Given the description of an element on the screen output the (x, y) to click on. 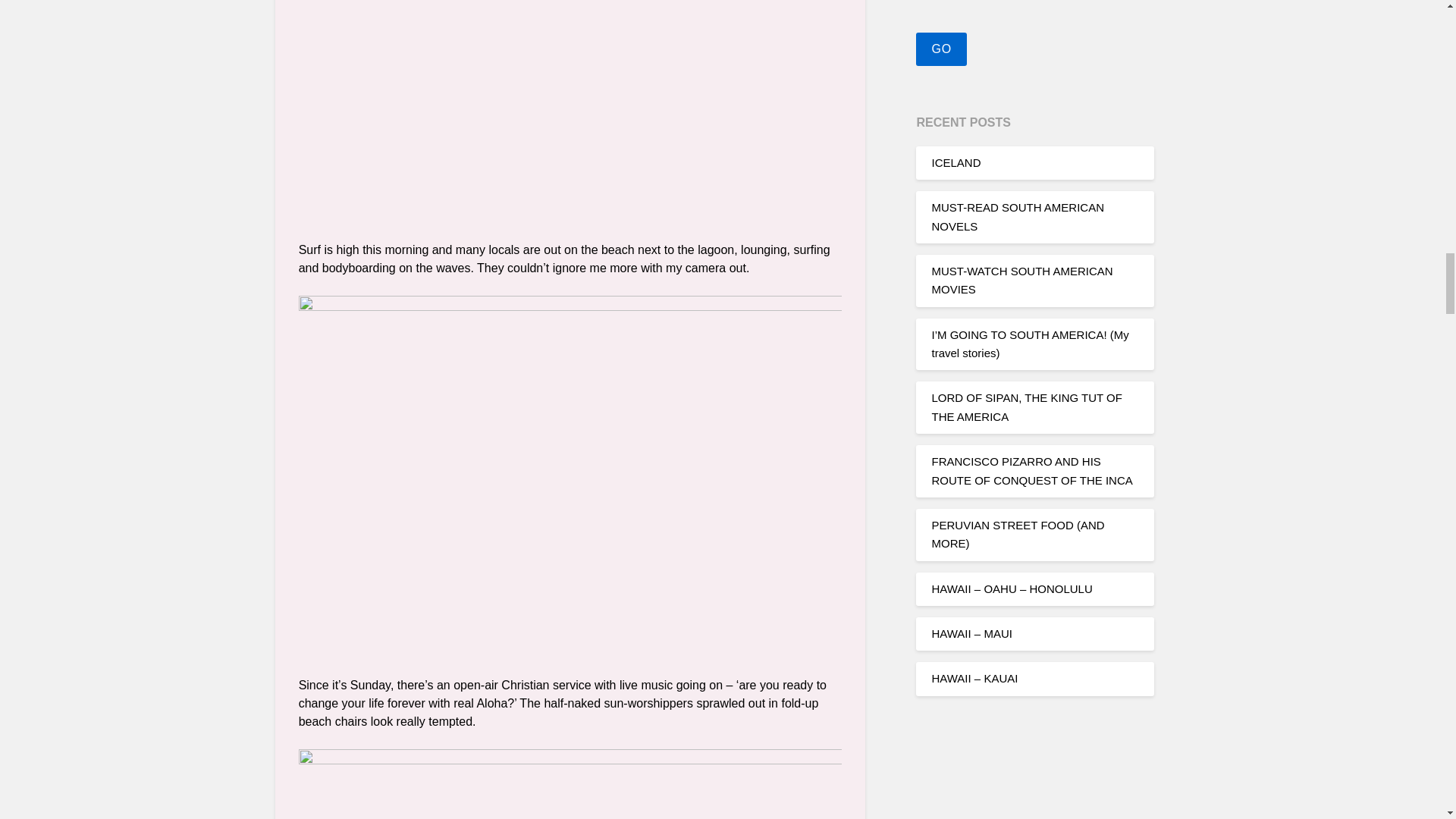
Go (940, 49)
